Given the description of an element on the screen output the (x, y) to click on. 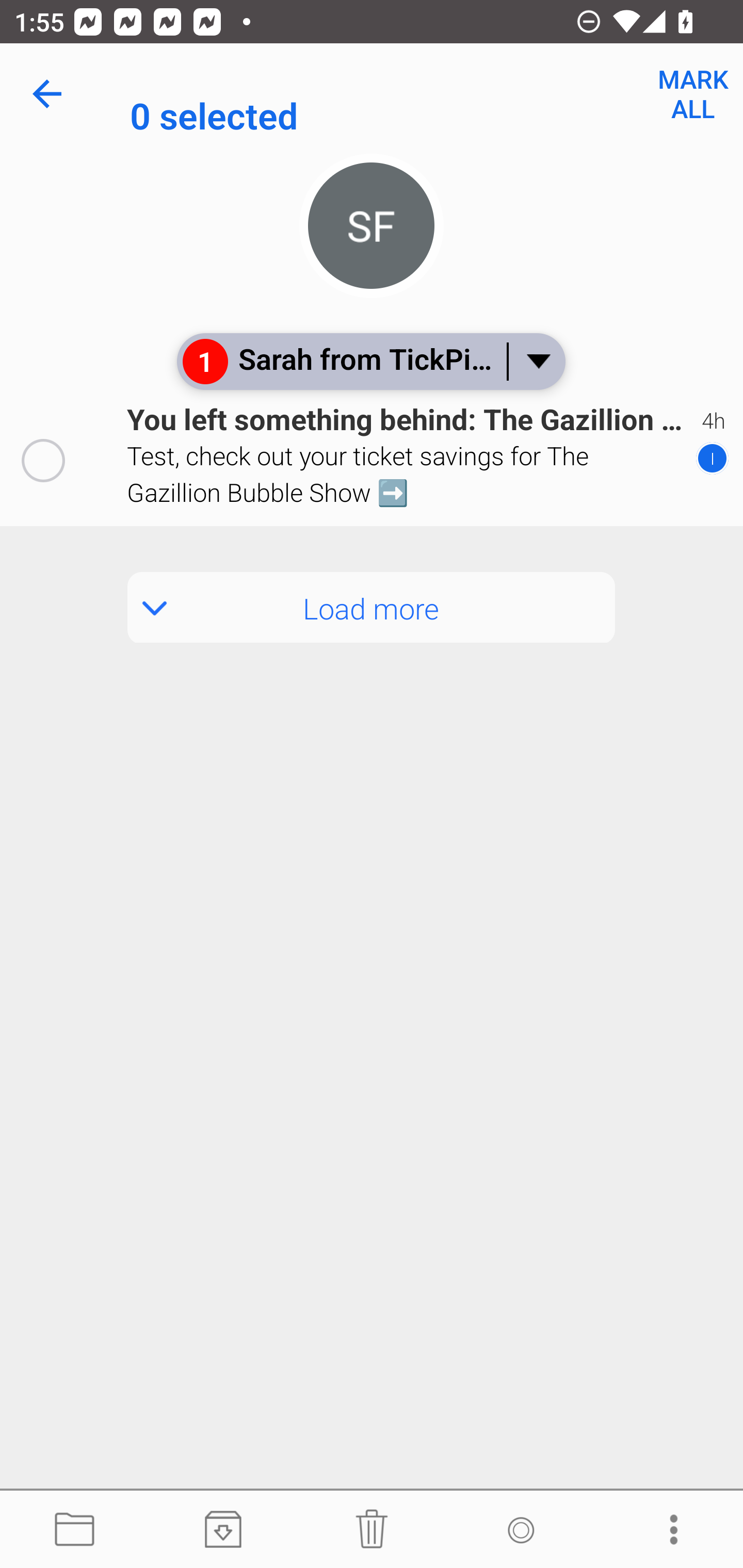
Sarah from TickPick hey@tickpick.com (436, 93)
Done (50, 93)
MARK
ALL (692, 93)
1 Sarah from TickPick & You (370, 361)
Load more (371, 607)
Move (74, 1529)
Archive (222, 1529)
Delete (371, 1529)
Mark as Read (520, 1529)
More Options (668, 1529)
